Given the description of an element on the screen output the (x, y) to click on. 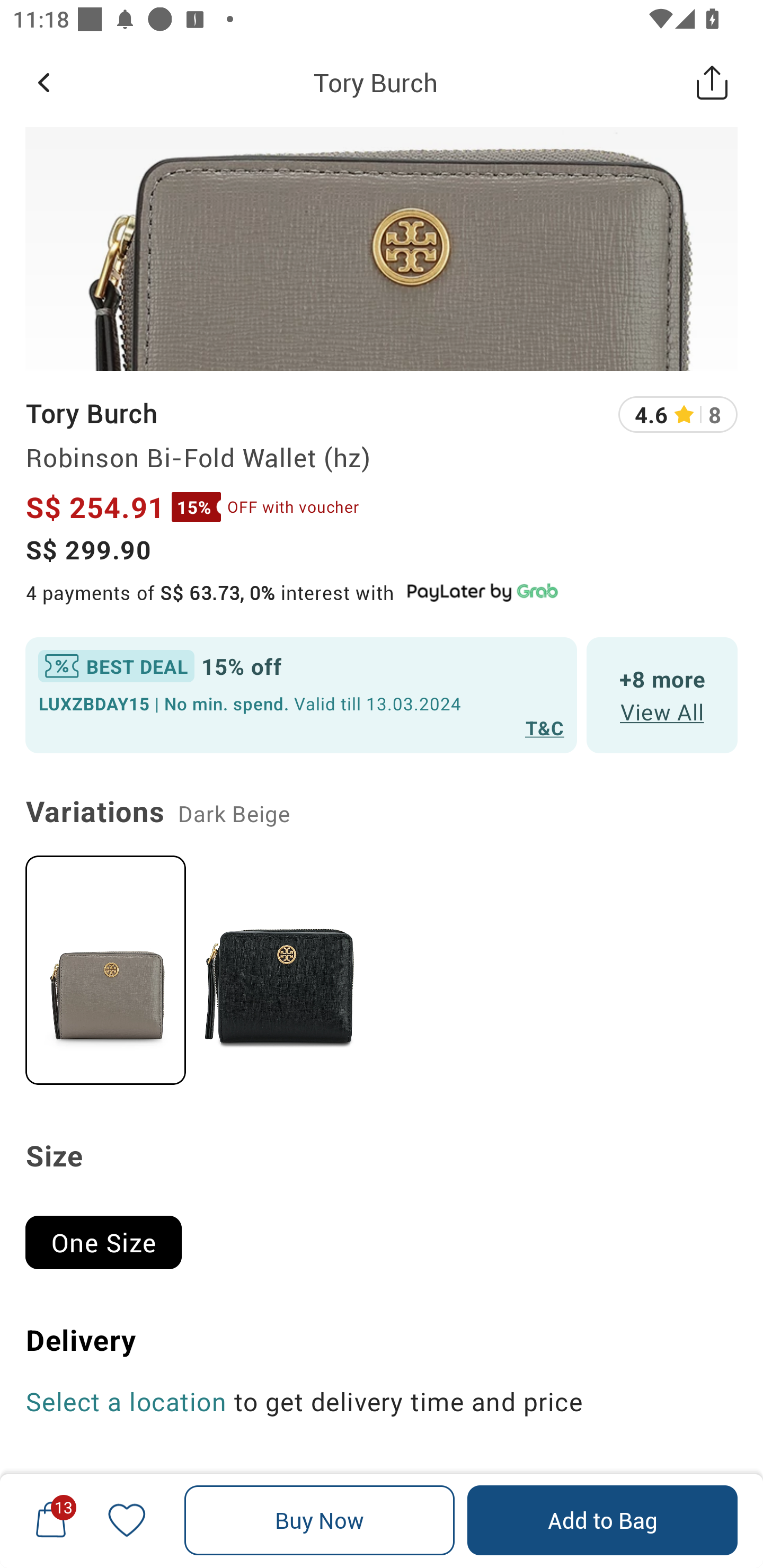
Tory Burch (375, 82)
Share this Product (711, 82)
Tory Burch (91, 413)
4.6 8 (677, 414)
+8 more
View All (661, 694)
T&C (544, 727)
One Size (111, 1234)
Buy Now (319, 1519)
Add to Bag (601, 1519)
13 (50, 1520)
